Given the description of an element on the screen output the (x, y) to click on. 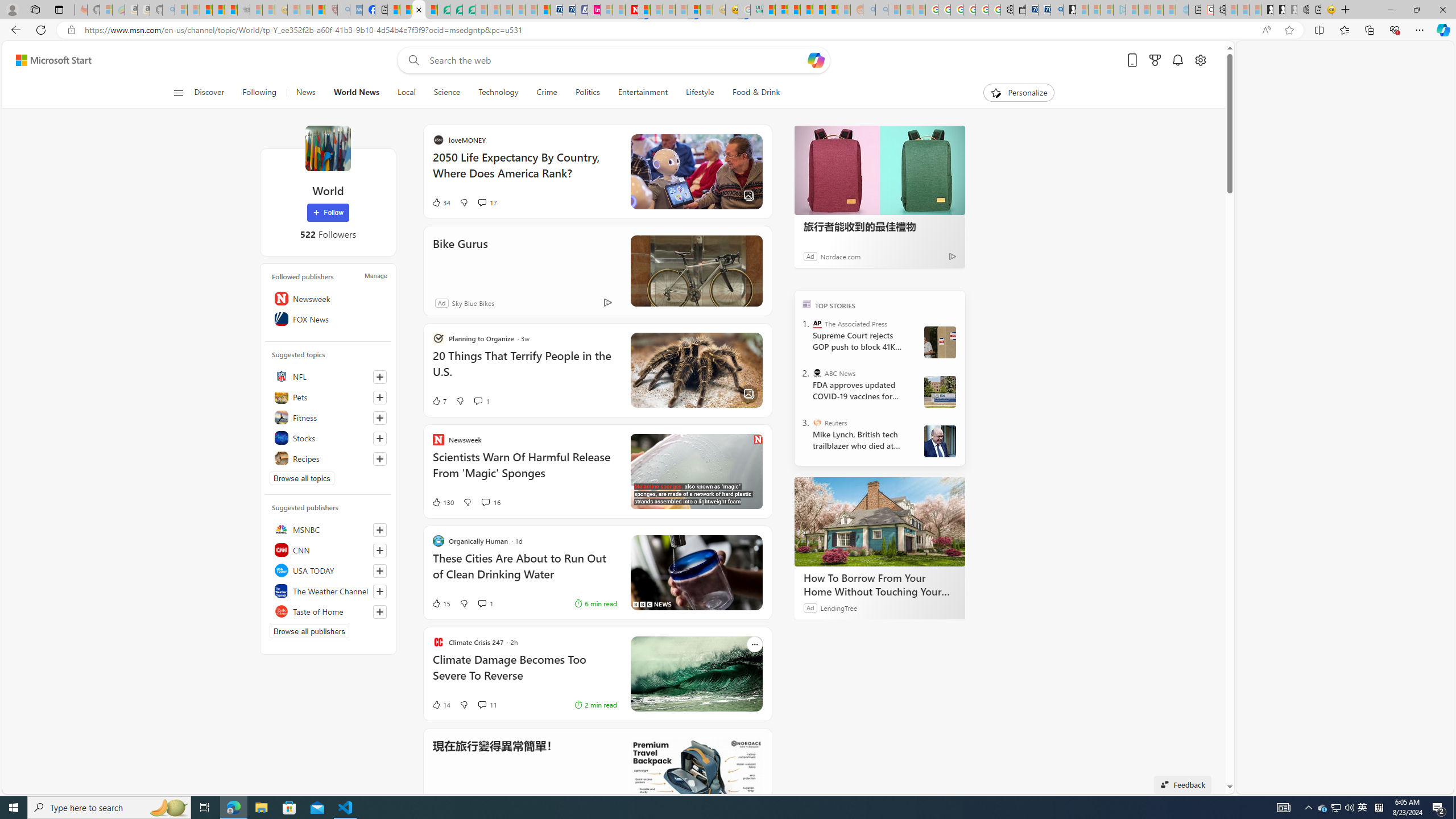
Taste of Home (327, 610)
These Cities Are About to Run Out of Clean Drinking Water (633, 572)
Terms of Use Agreement (456, 9)
View comments 11 Comment (481, 704)
Sky Blue Bikes (583, 302)
